Given the description of an element on the screen output the (x, y) to click on. 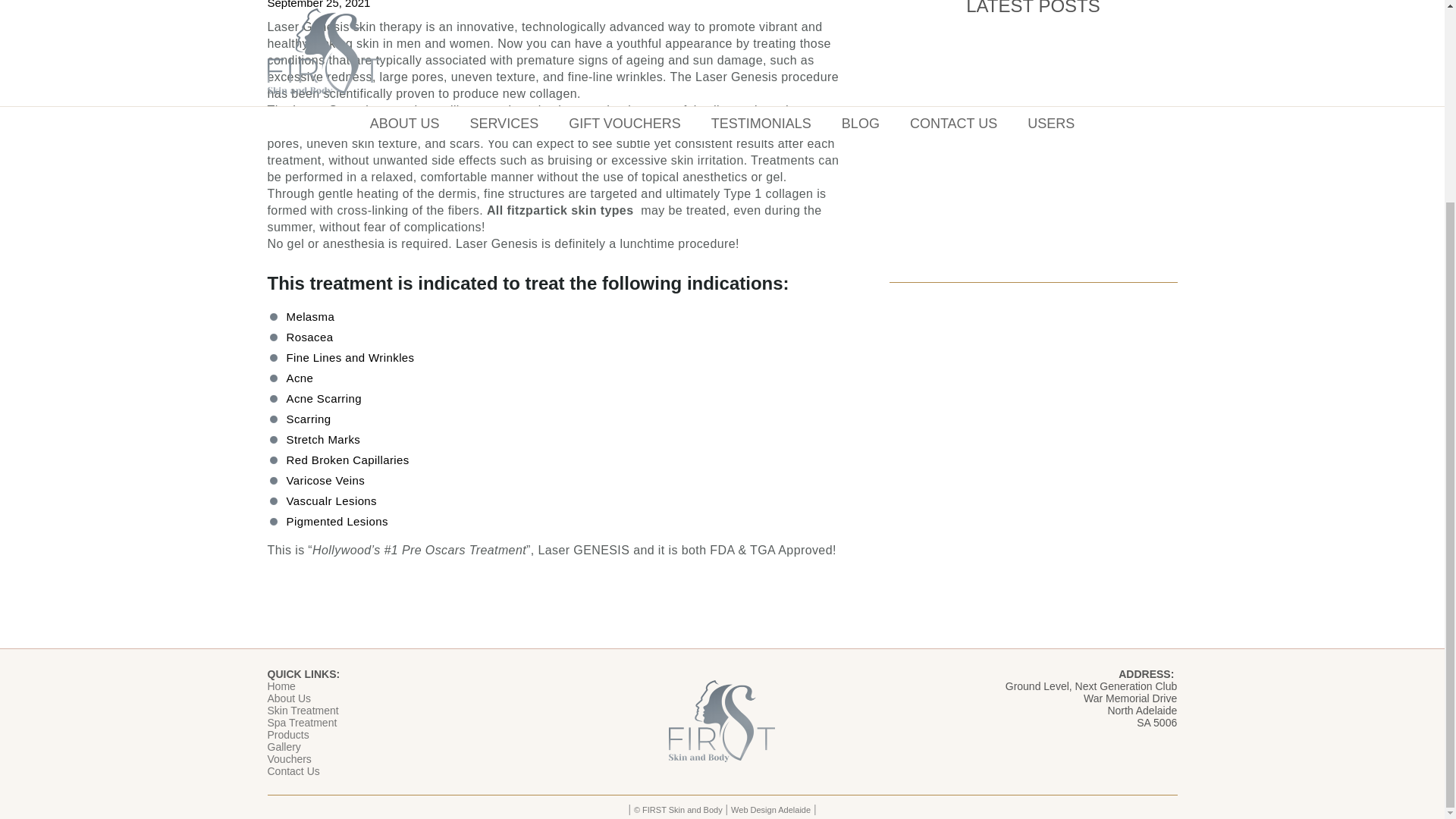
Web Design Adelaide (770, 809)
Skin Treatment (301, 710)
Contact Us (292, 770)
Products (287, 734)
Media (1032, 151)
Spa Treatment (301, 722)
Gallery (282, 746)
Home (280, 686)
About Us (288, 698)
Vouchers (288, 758)
